Given the description of an element on the screen output the (x, y) to click on. 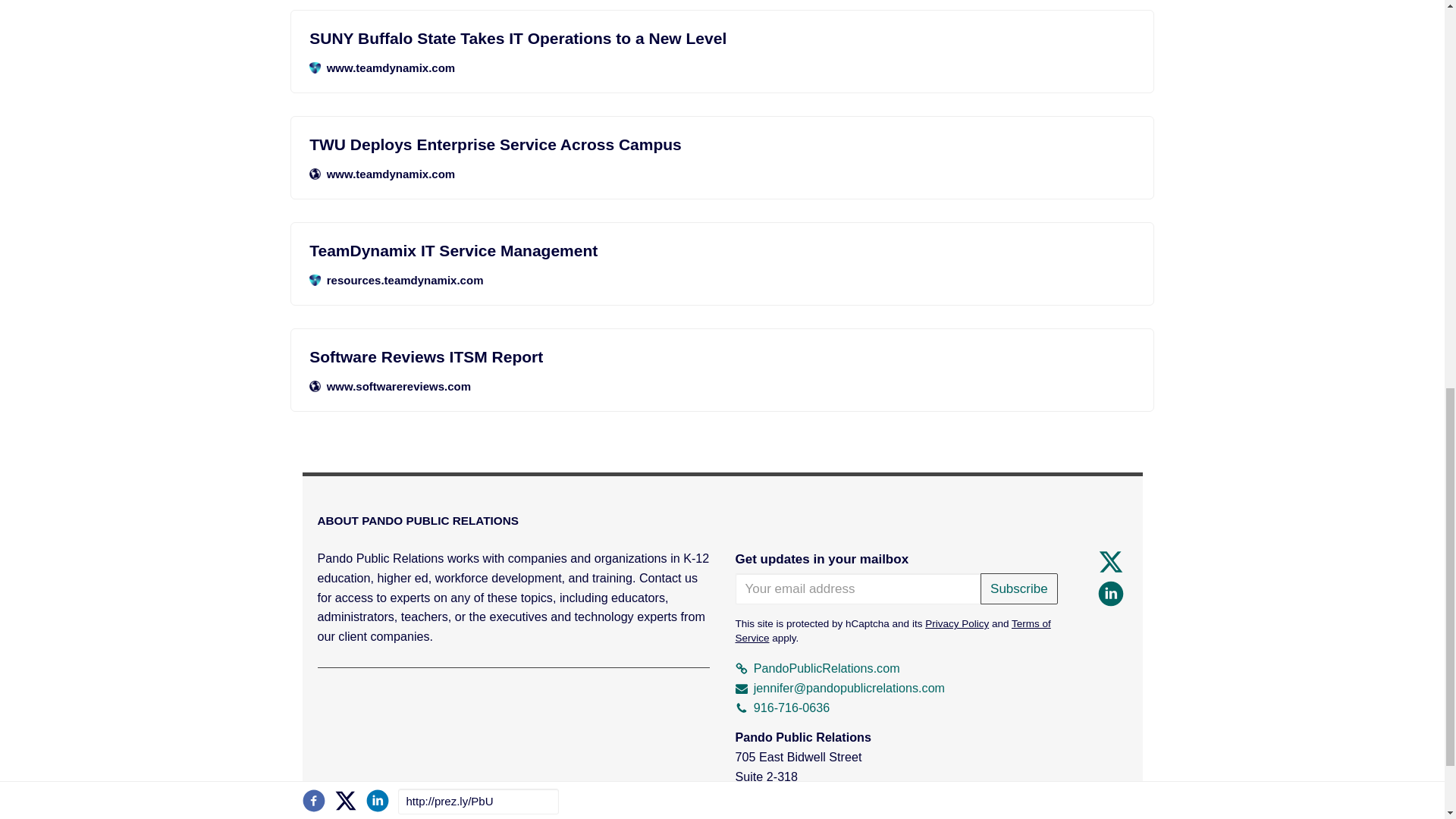
Subscribe (1018, 588)
www.teamdynamix.com (721, 67)
PandoPublicRelations.com (817, 667)
916-716-0636 (782, 707)
Terms of Service (893, 630)
Pando Public Relations Twitter (1110, 561)
TWU Deploys Enterprise Service Across Campus (721, 144)
www.teamdynamix.com (721, 174)
resources.teamdynamix.com (721, 280)
916-716-0636 (782, 707)
Software Reviews ITSM Report (721, 356)
www.softwarereviews.com (721, 386)
TeamDynamix IT Service Management (721, 250)
Privacy Policy (956, 623)
SUNY Buffalo State Takes IT Operations to a New Level (721, 38)
